Given the description of an element on the screen output the (x, y) to click on. 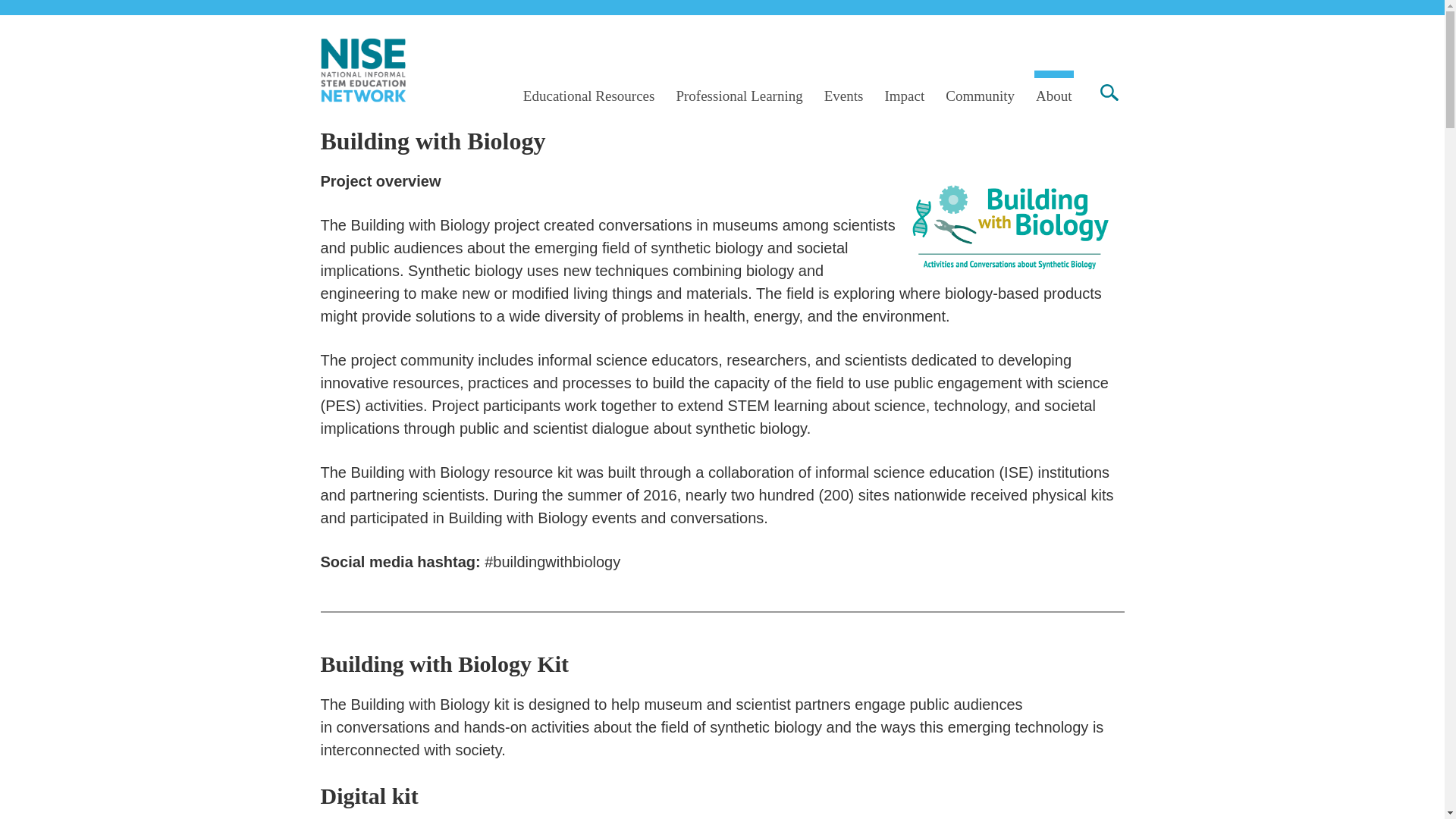
Expand Educational Resources menu (18, 0)
Professional Learning (738, 96)
Community (979, 96)
Events (844, 96)
Impact (903, 96)
Educational Resources (588, 96)
